Given the description of an element on the screen output the (x, y) to click on. 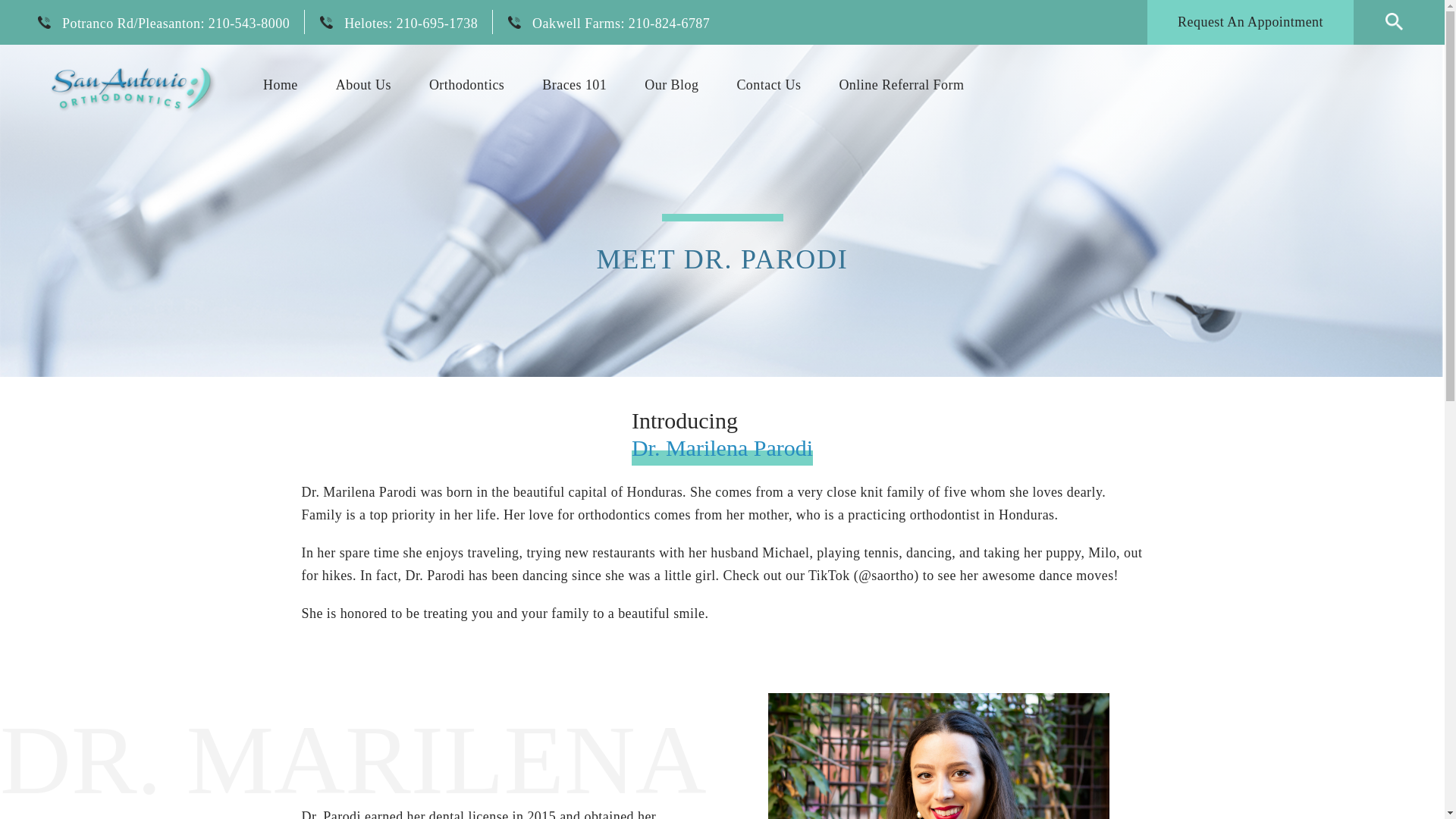
Request An Appointment (1250, 11)
Orthodontics (466, 84)
Helotes: 210-695-1738 (410, 3)
Oakwell Farms: 210-824-6787 (621, 4)
About Us (362, 84)
